Given the description of an element on the screen output the (x, y) to click on. 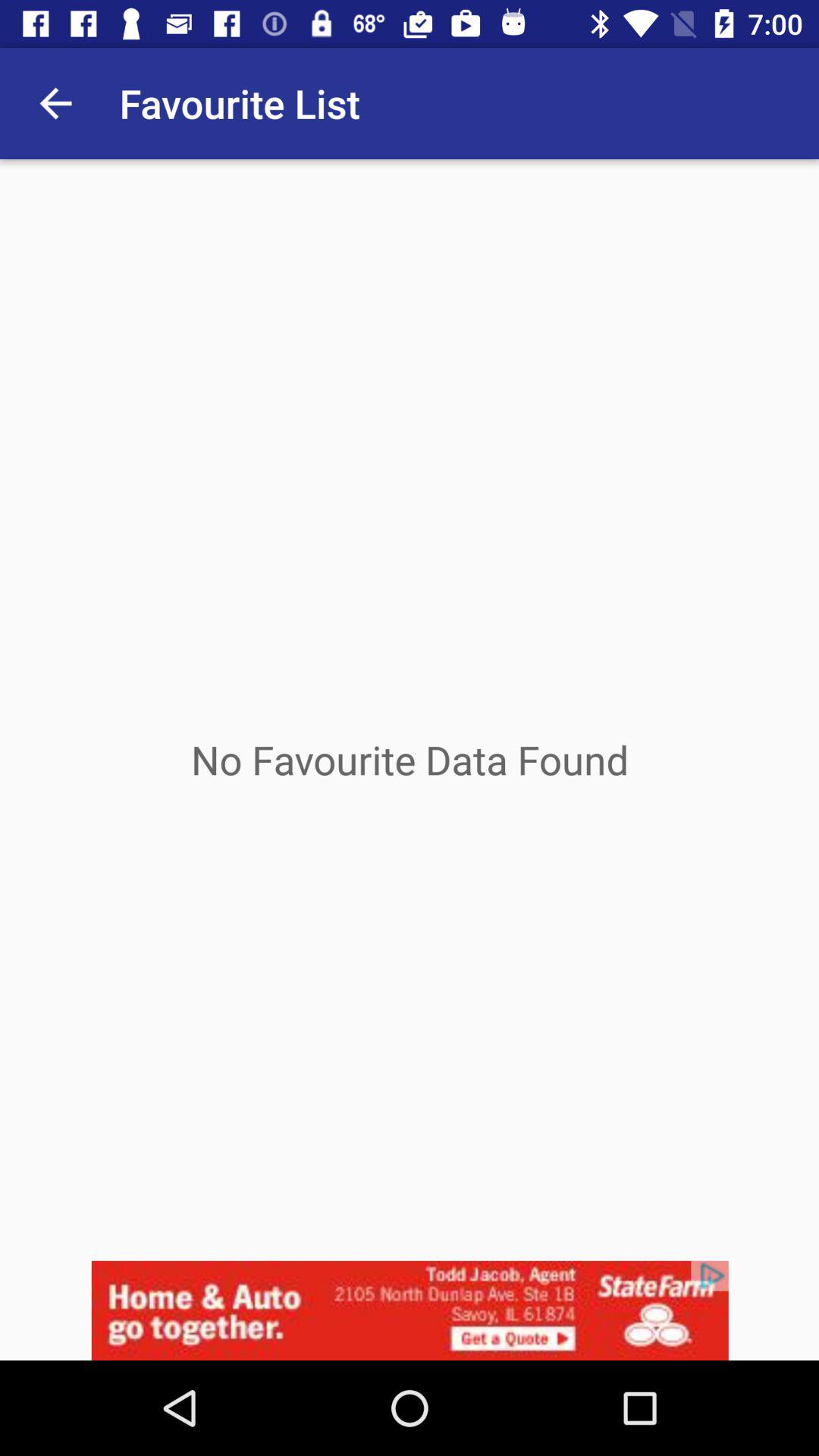
advertisement (409, 1310)
